Given the description of an element on the screen output the (x, y) to click on. 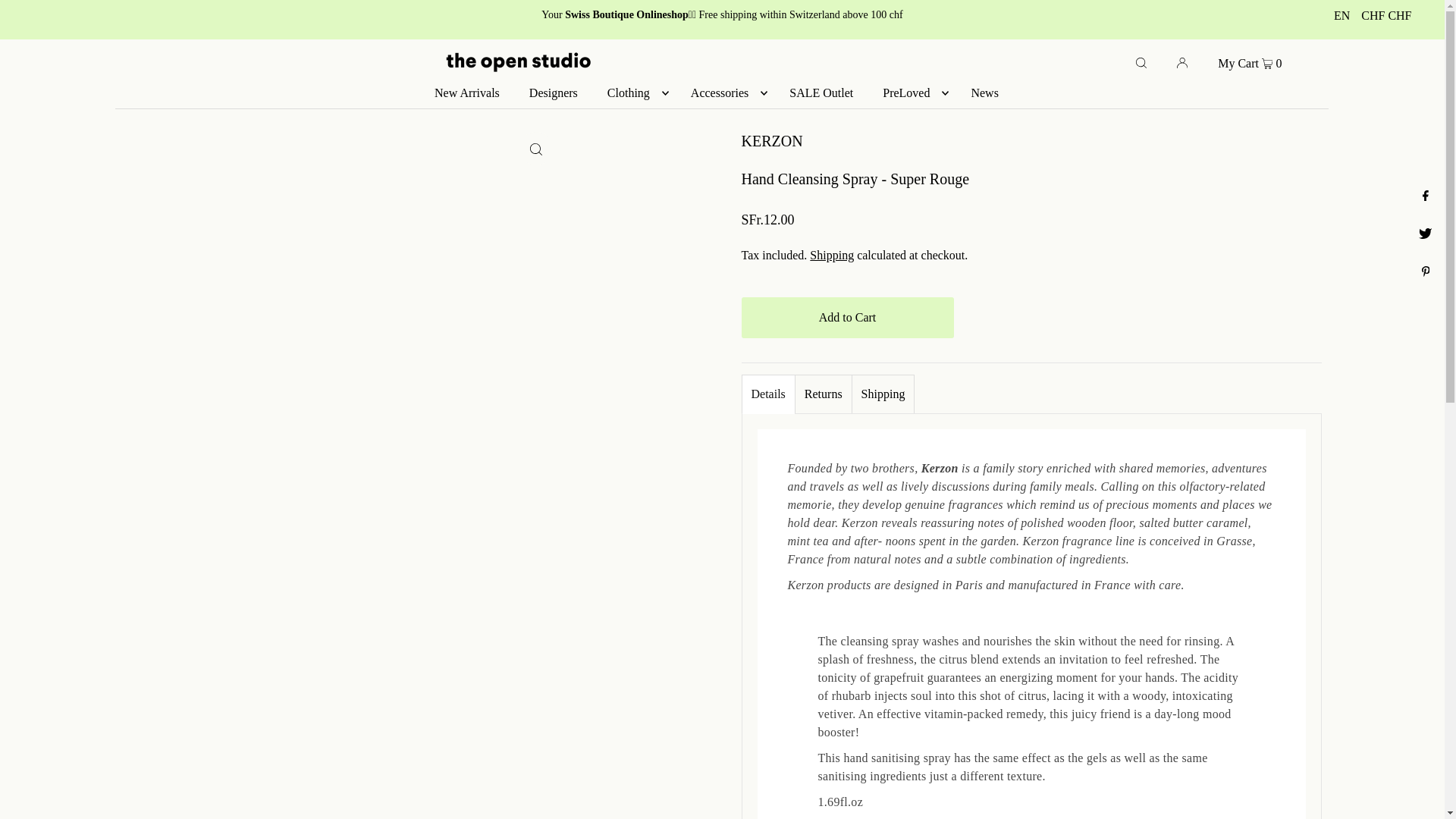
Add to Cart (847, 317)
